Given the description of an element on the screen output the (x, y) to click on. 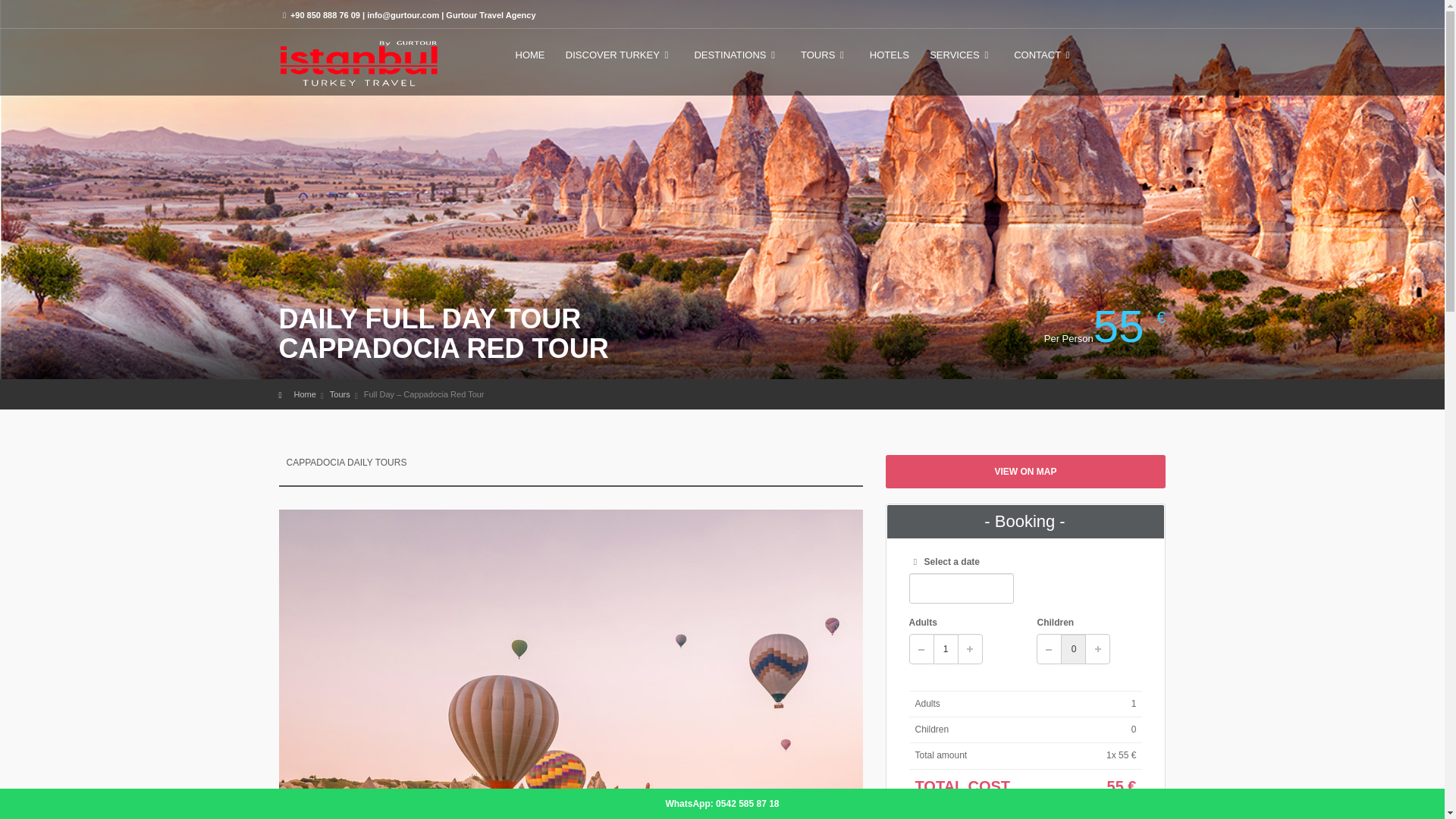
Tours (340, 393)
DISCOVER TURKEY (619, 60)
Home (304, 393)
DESTINATIONS (736, 60)
HOME (530, 60)
